Given the description of an element on the screen output the (x, y) to click on. 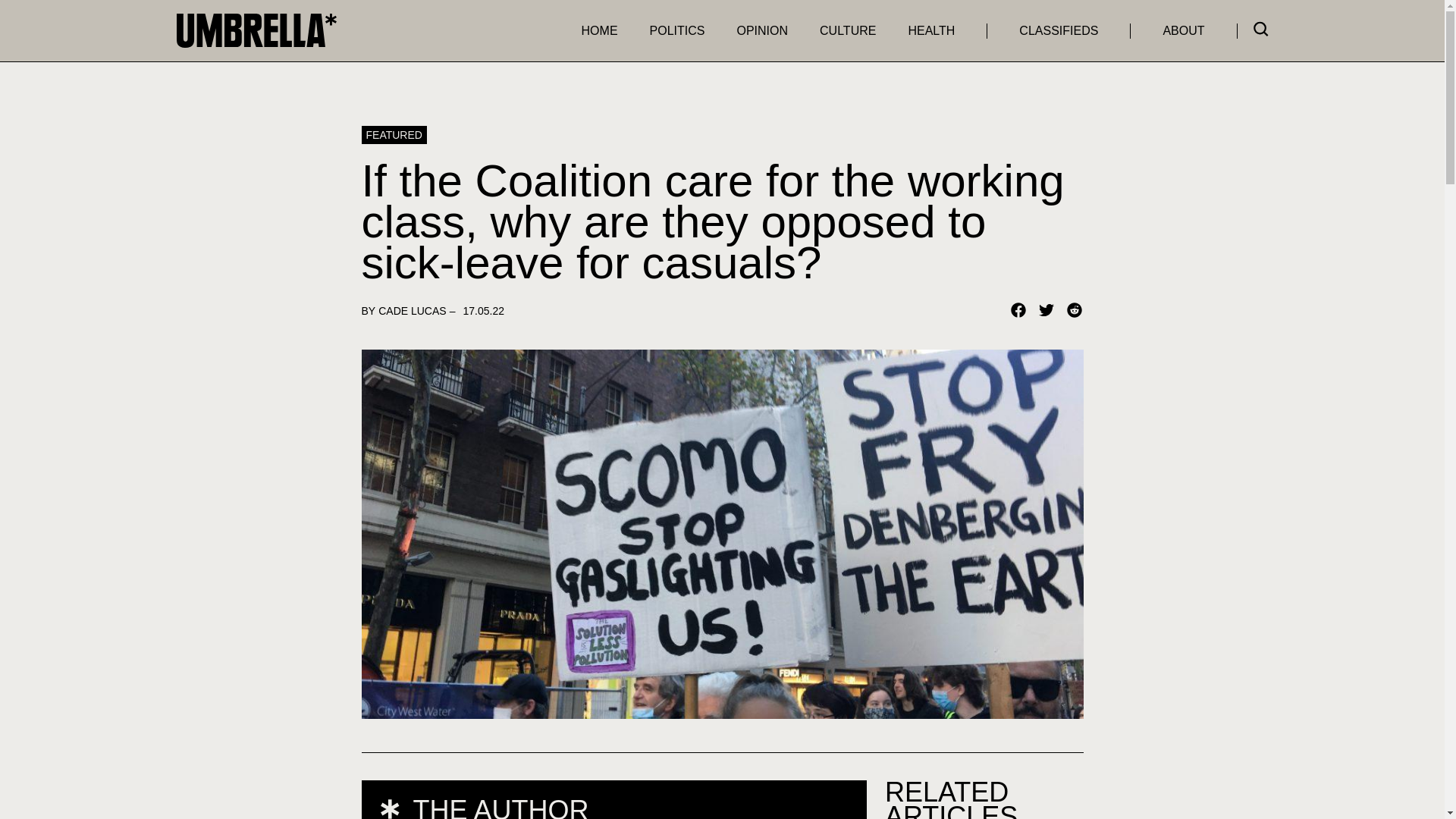
CULTURE (847, 29)
CLASSIFIEDS (1058, 29)
HEALTH (931, 29)
POLITICS (676, 29)
ABOUT (1182, 29)
HOME (598, 29)
OPINION (761, 29)
FEATURED (393, 135)
